Given the description of an element on the screen output the (x, y) to click on. 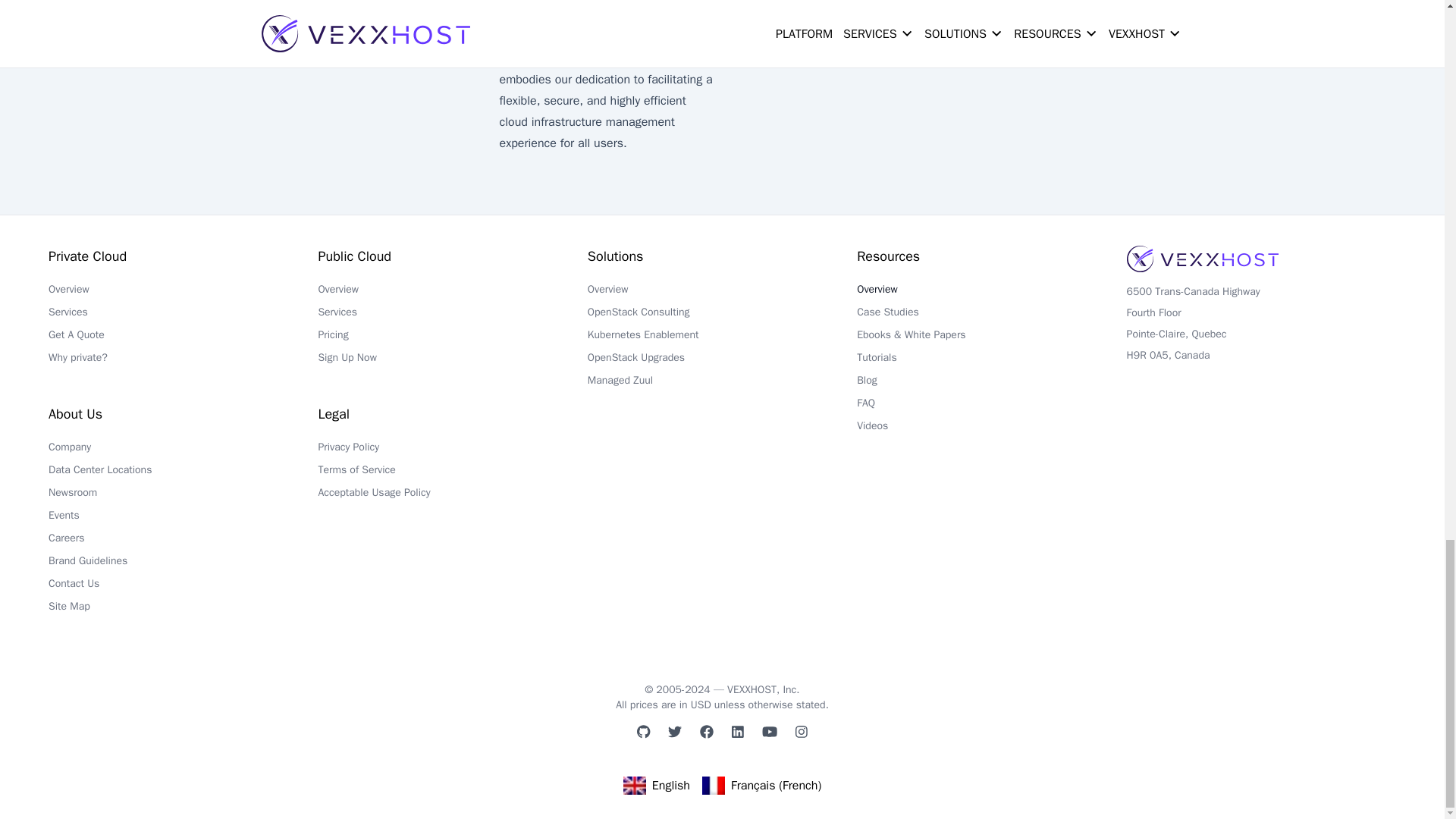
Get A Quote (182, 338)
Overview (182, 292)
Services (182, 315)
